Given the description of an element on the screen output the (x, y) to click on. 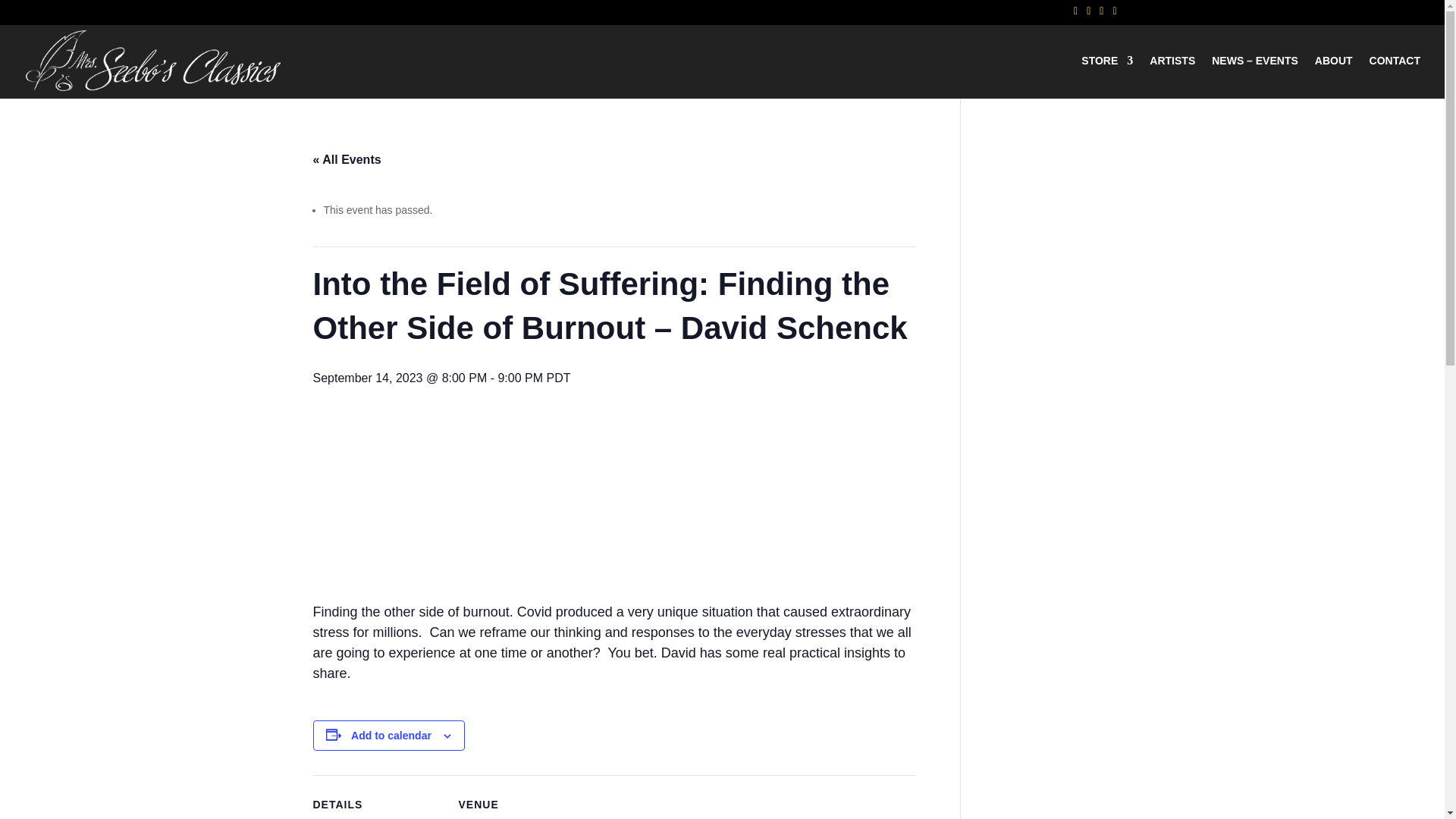
CONTACT (1395, 76)
ARTISTS (1172, 76)
STORE (1106, 76)
Add to calendar (390, 735)
